Given the description of an element on the screen output the (x, y) to click on. 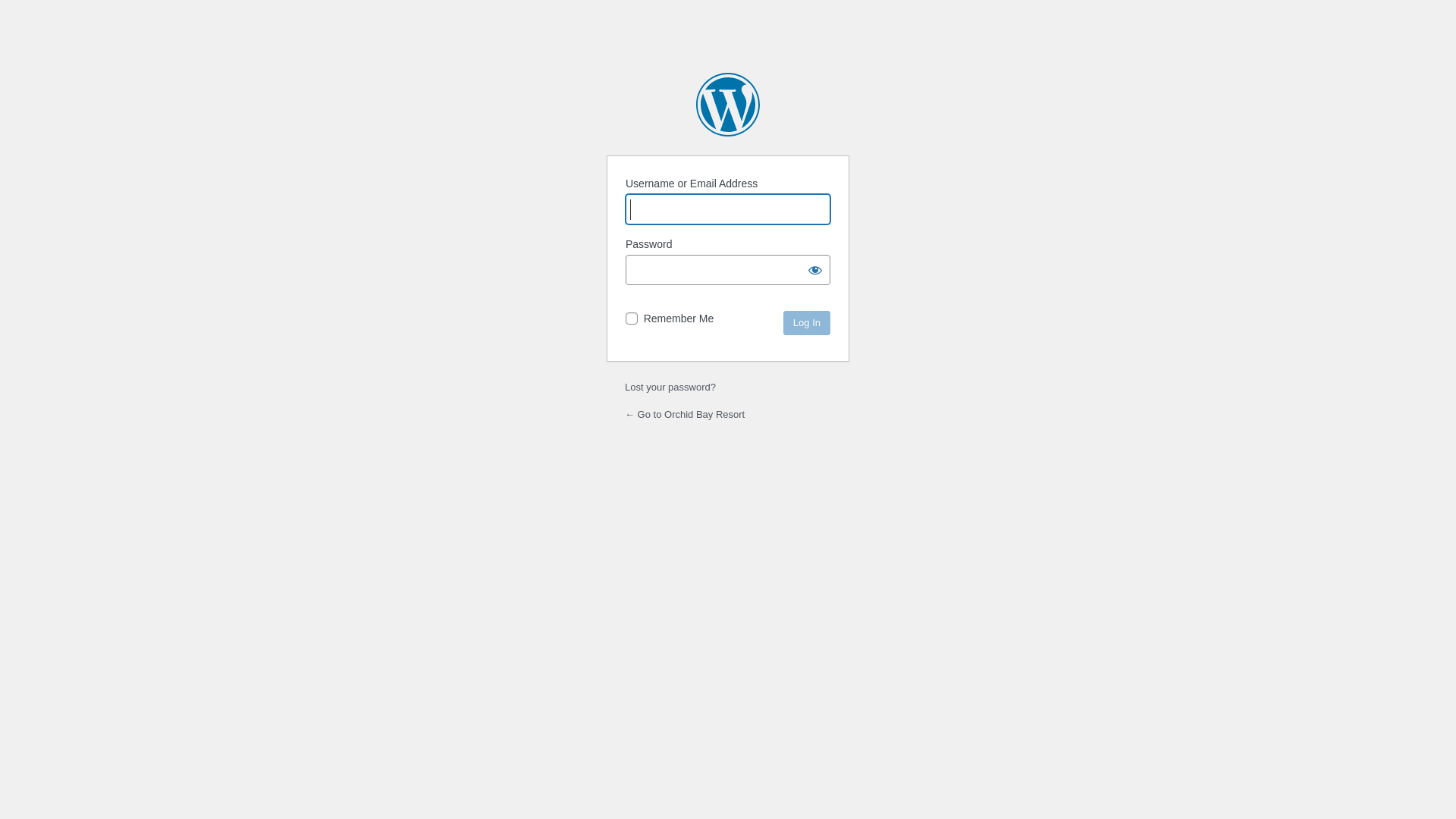
Lost your password? Element type: text (669, 386)
Powered by WordPress Element type: text (727, 104)
Log In Element type: text (806, 322)
